Given the description of an element on the screen output the (x, y) to click on. 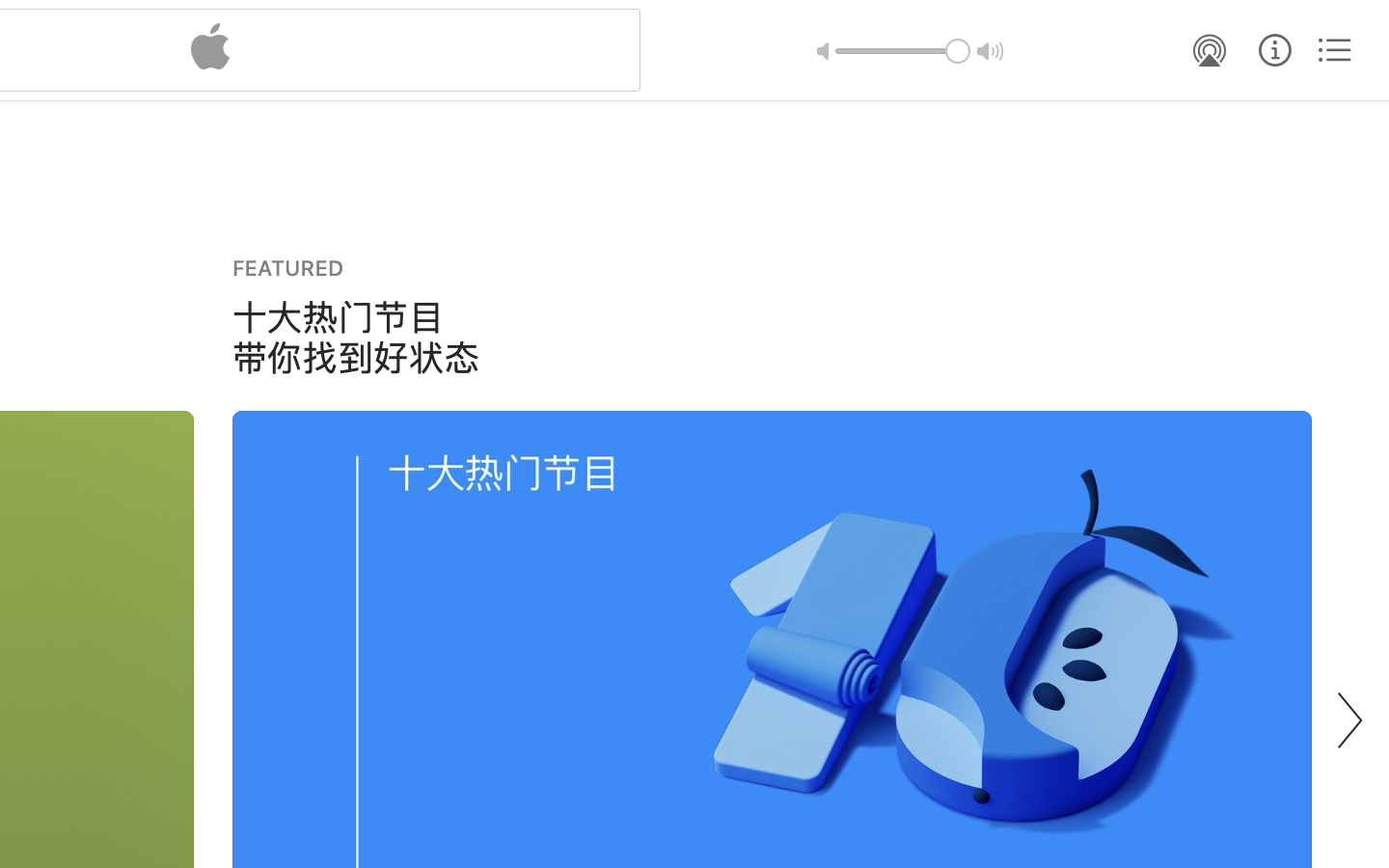
1.0 Element type: AXSlider (902, 50)
